Given the description of an element on the screen output the (x, y) to click on. 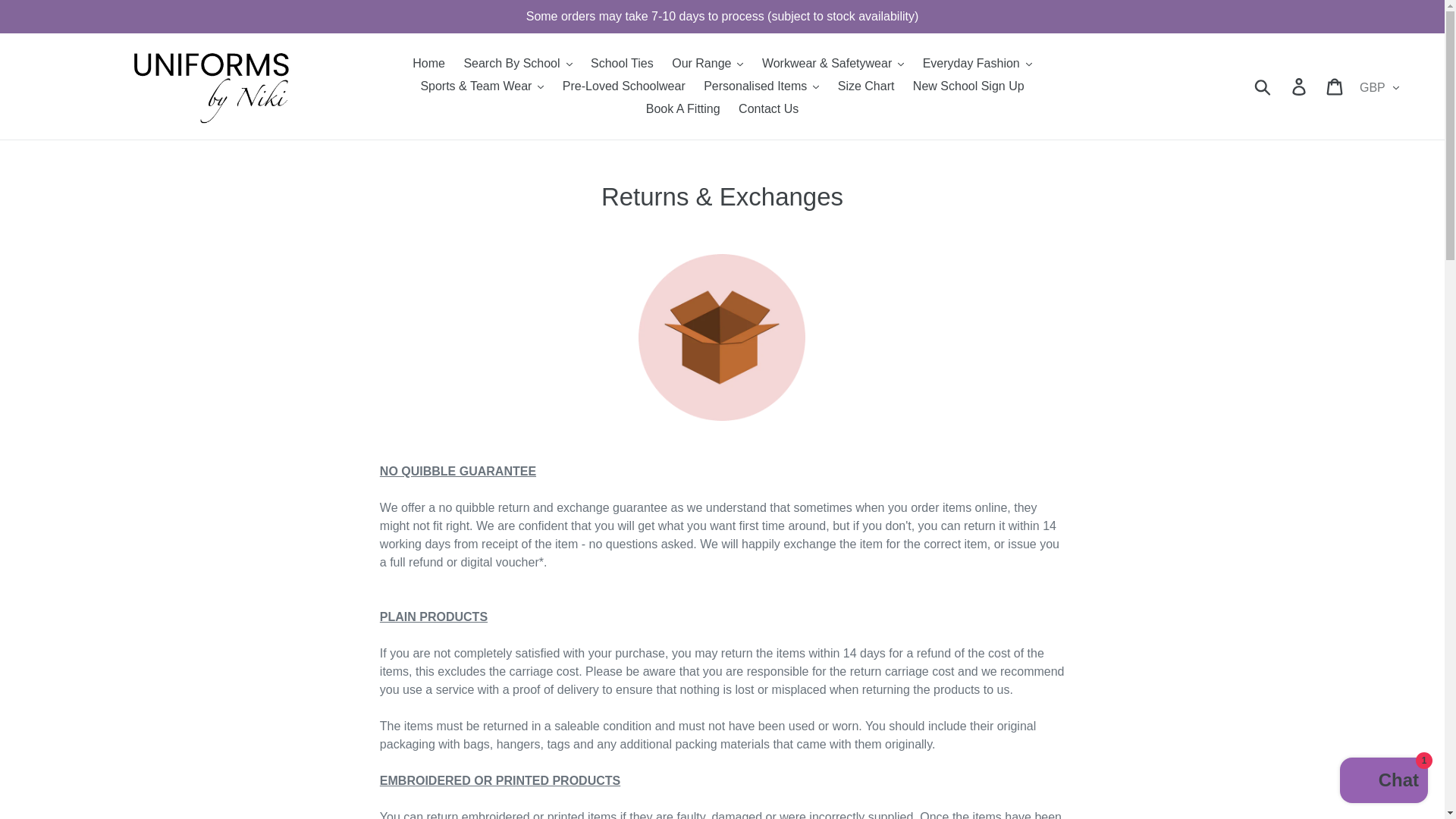
Home (428, 63)
School Ties (622, 63)
